Given the description of an element on the screen output the (x, y) to click on. 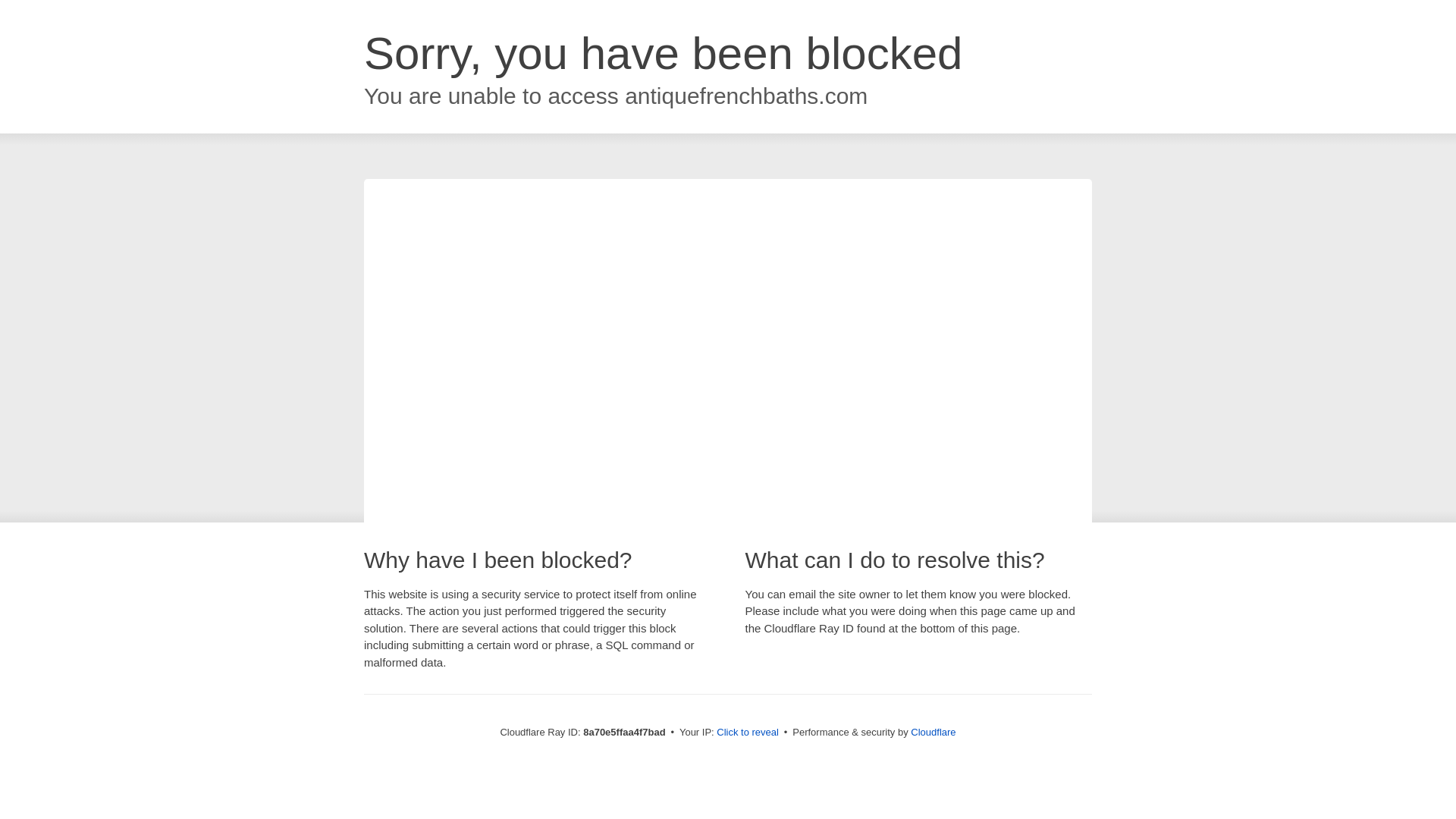
Click to reveal (747, 732)
Cloudflare (933, 731)
